Given the description of an element on the screen output the (x, y) to click on. 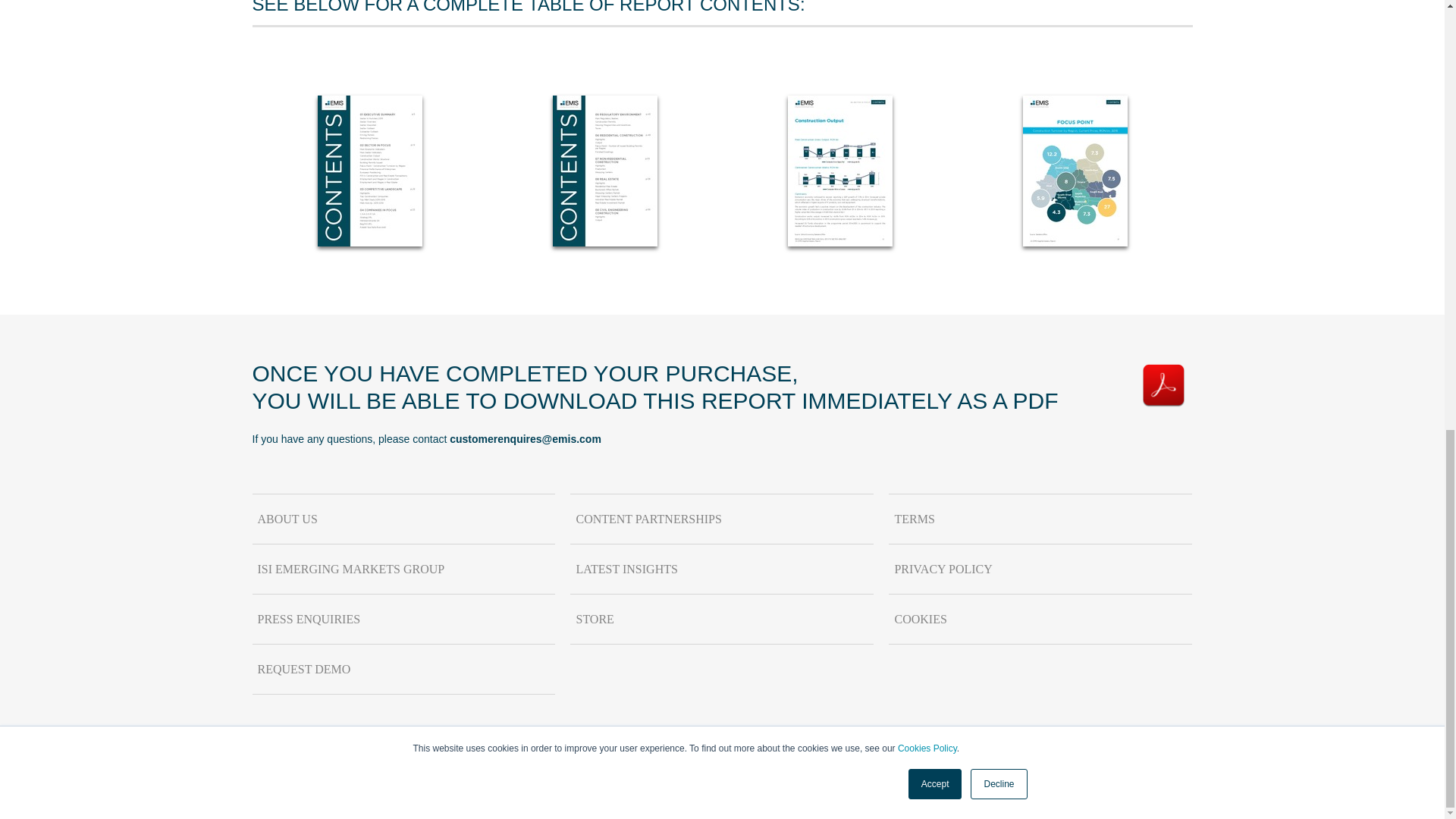
Content Partnerships (721, 518)
Request demo (402, 669)
About us (402, 518)
Latest Insights (721, 569)
Store (721, 619)
ISI Emerging Markets Group (402, 569)
Privacy Policy (1040, 569)
Terms (1040, 518)
Press Enquiries (402, 619)
Cookies (1040, 619)
